Given the description of an element on the screen output the (x, y) to click on. 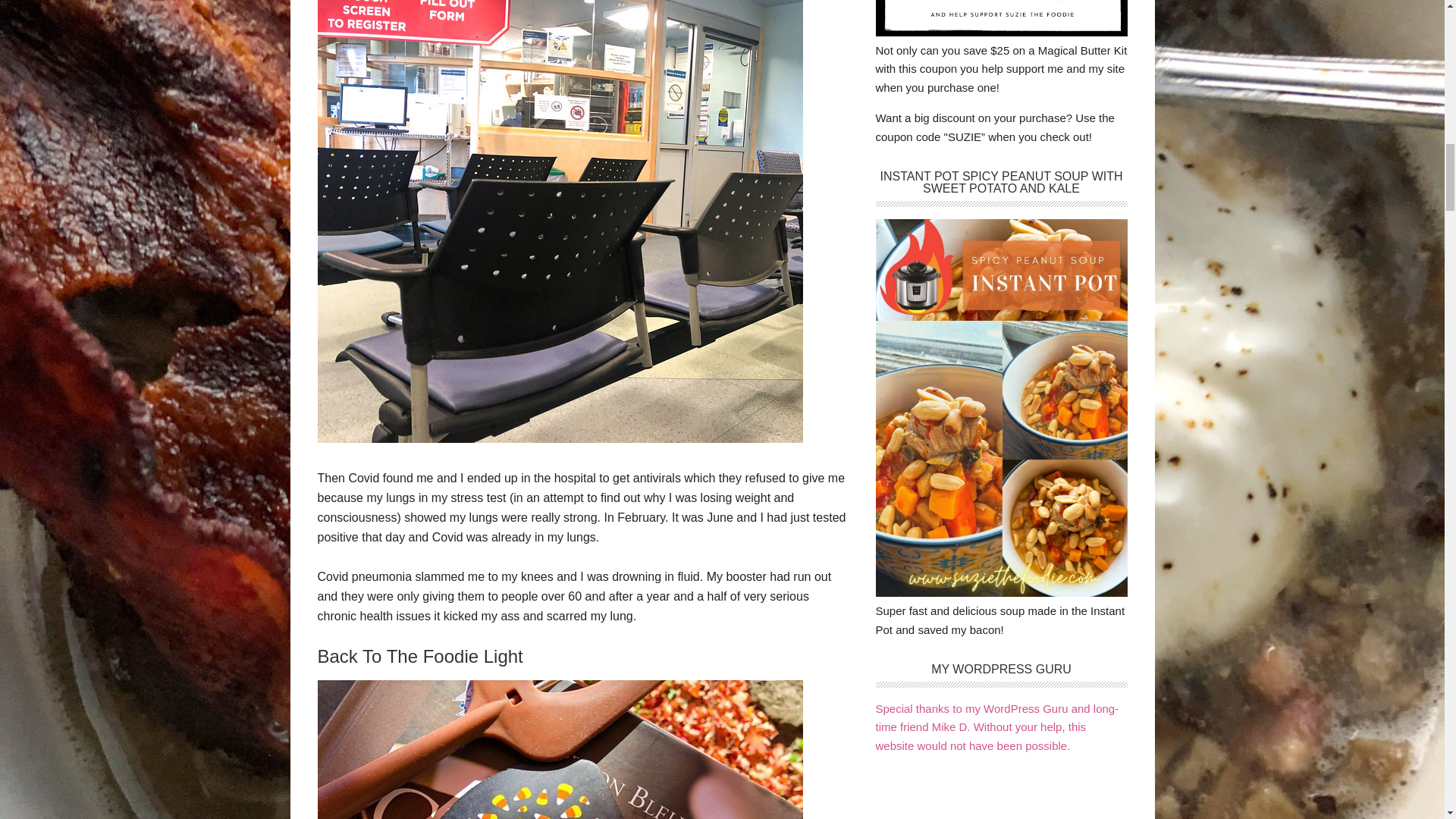
Suzie The Foodie Is Back! (559, 438)
